Given the description of an element on the screen output the (x, y) to click on. 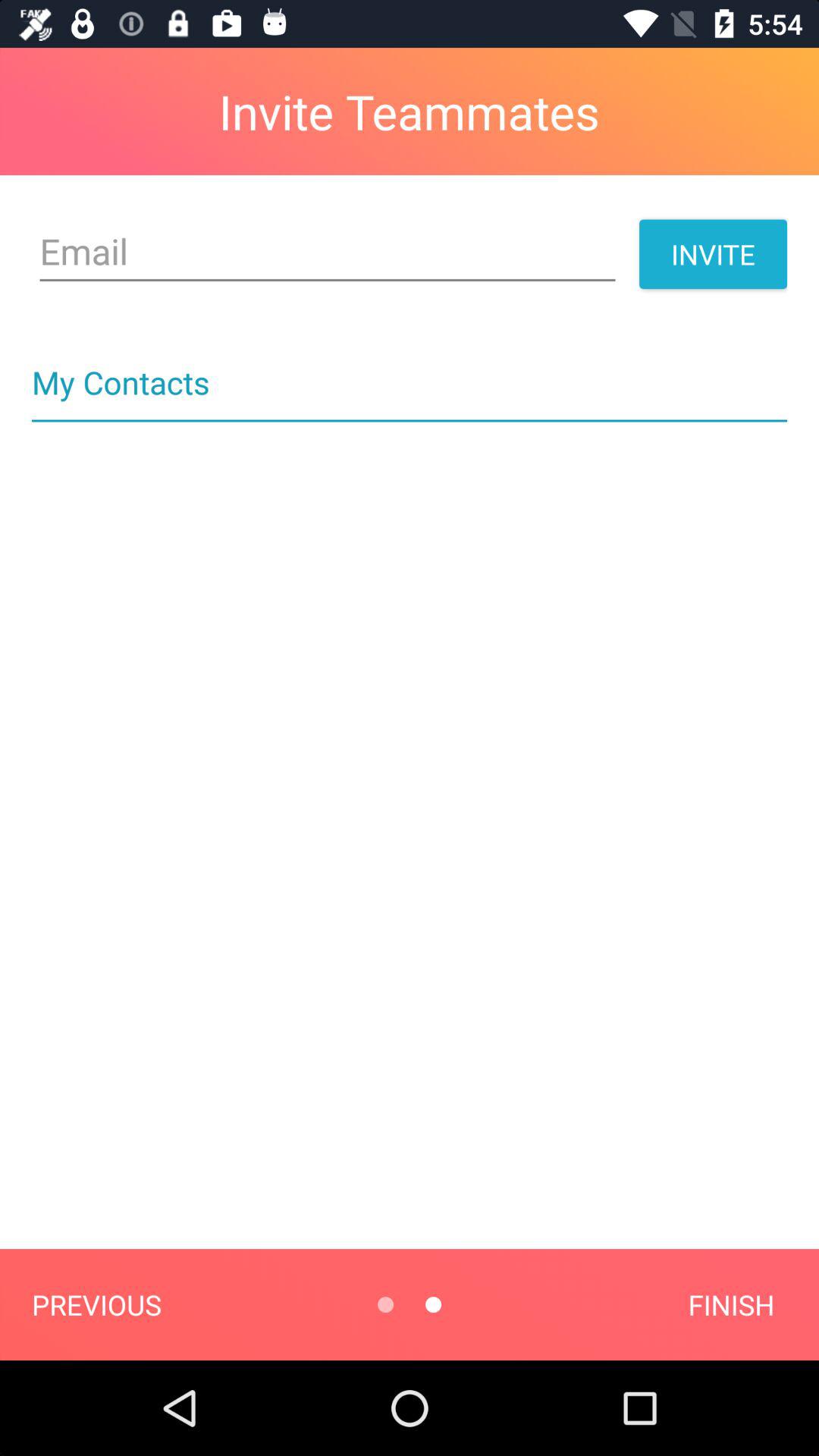
scroll to my contacts (409, 365)
